Given the description of an element on the screen output the (x, y) to click on. 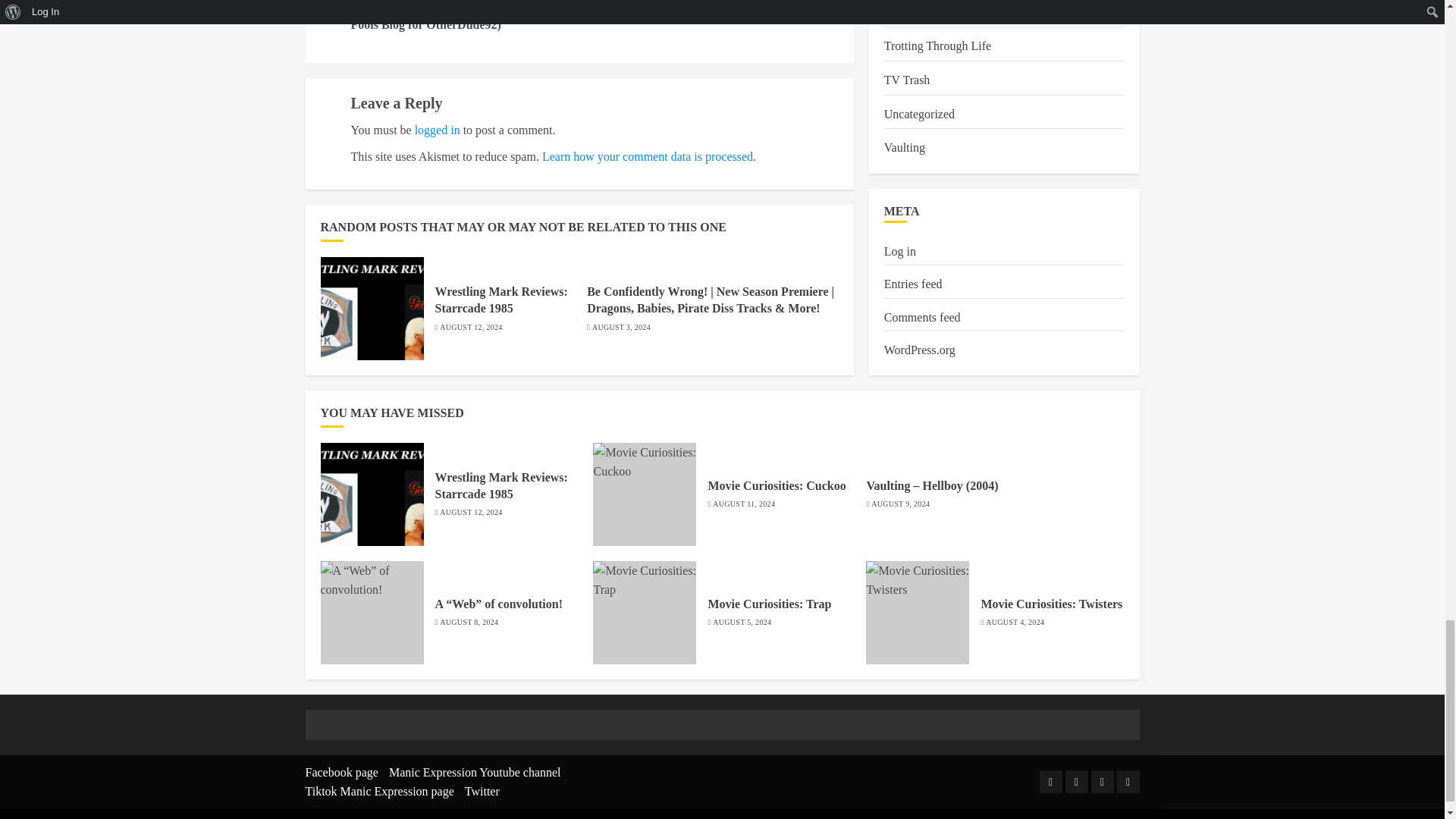
Movie Curiosities: Twisters (917, 612)
Movie Curiosities: Trap (643, 612)
Movie Curiosities: Cuckoo (643, 494)
